Given the description of an element on the screen output the (x, y) to click on. 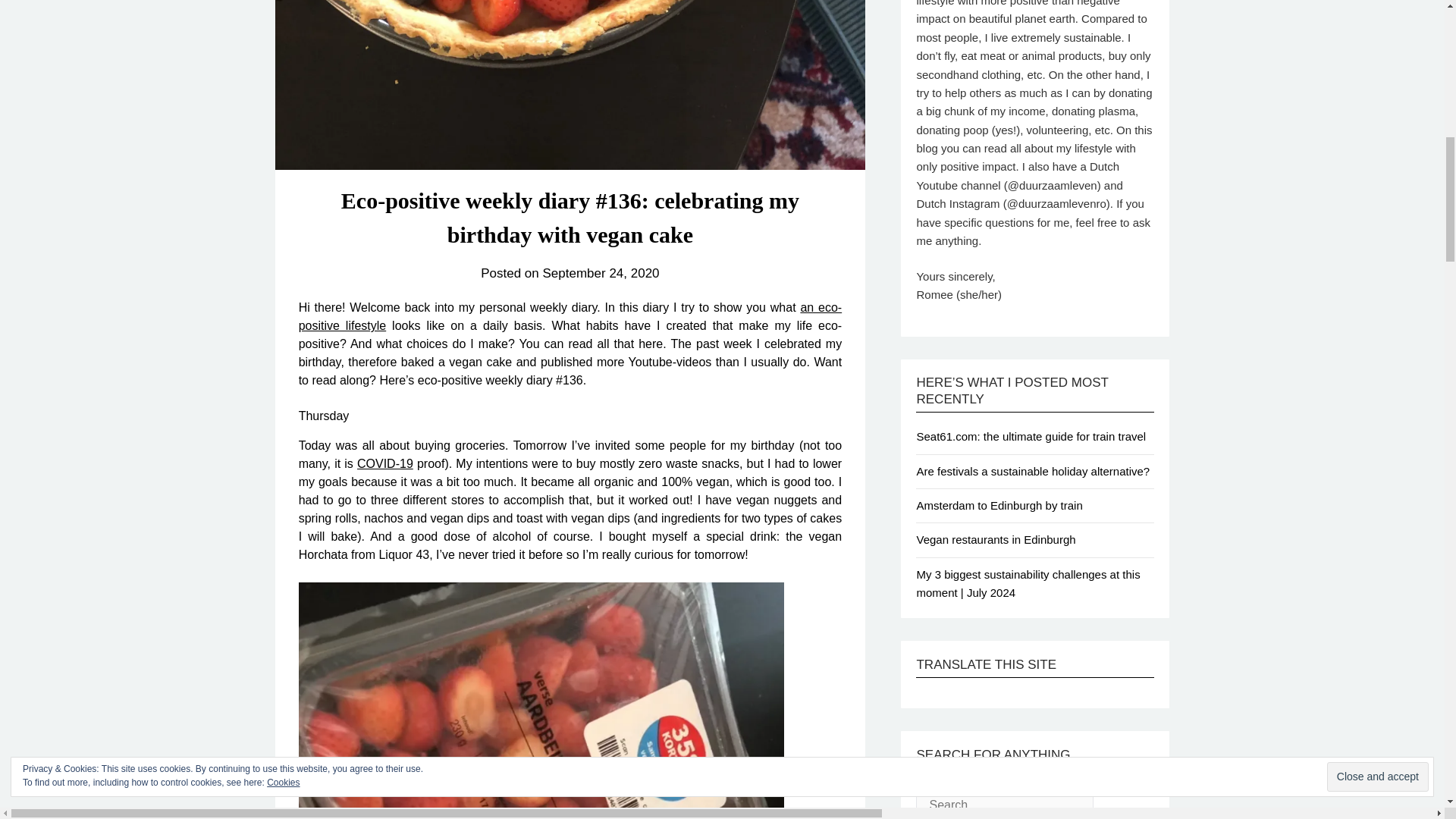
an eco-positive lifestyle (570, 316)
September 24, 2020 (601, 273)
COVID-19 (384, 463)
